Given the description of an element on the screen output the (x, y) to click on. 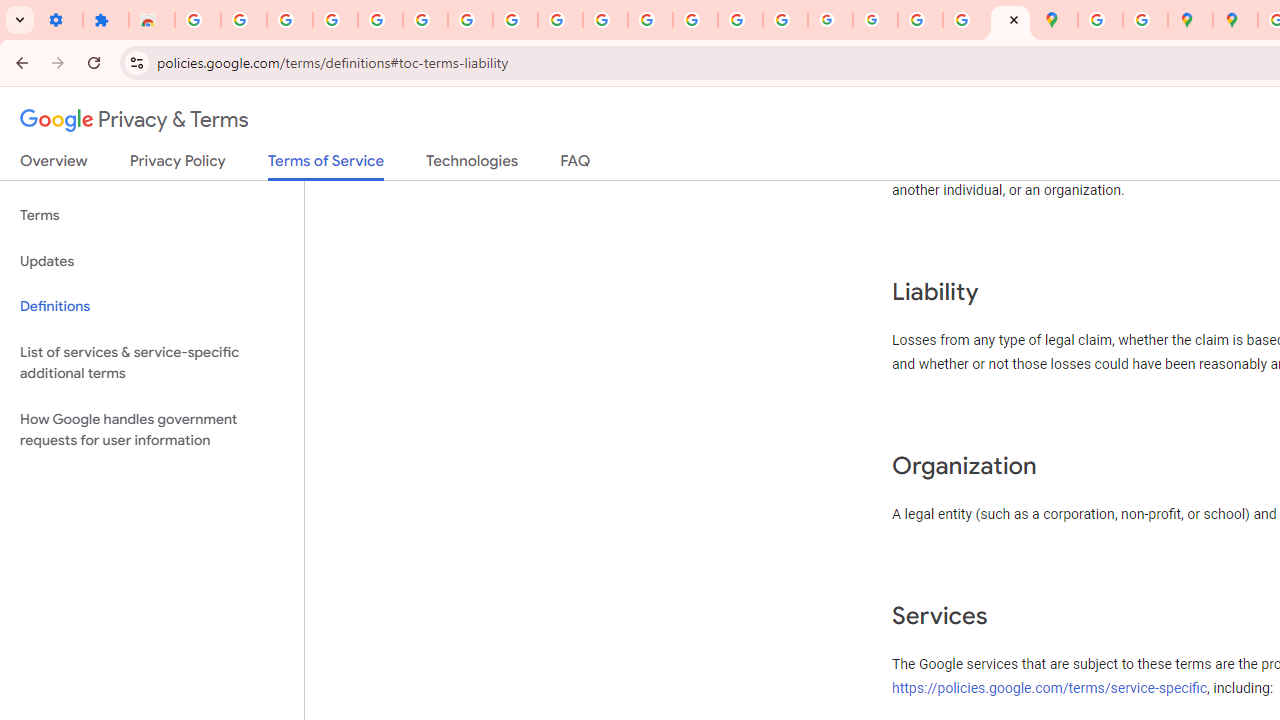
Reviews: Helix Fruit Jump Arcade Game (152, 20)
Sign in - Google Accounts (425, 20)
Settings - On startup (60, 20)
Delete photos & videos - Computer - Google Photos Help (290, 20)
FAQ (575, 165)
Sign in - Google Accounts (198, 20)
Safety in Our Products - Google Safety Center (1145, 20)
List of services & service-specific additional terms (152, 362)
